Given the description of an element on the screen output the (x, y) to click on. 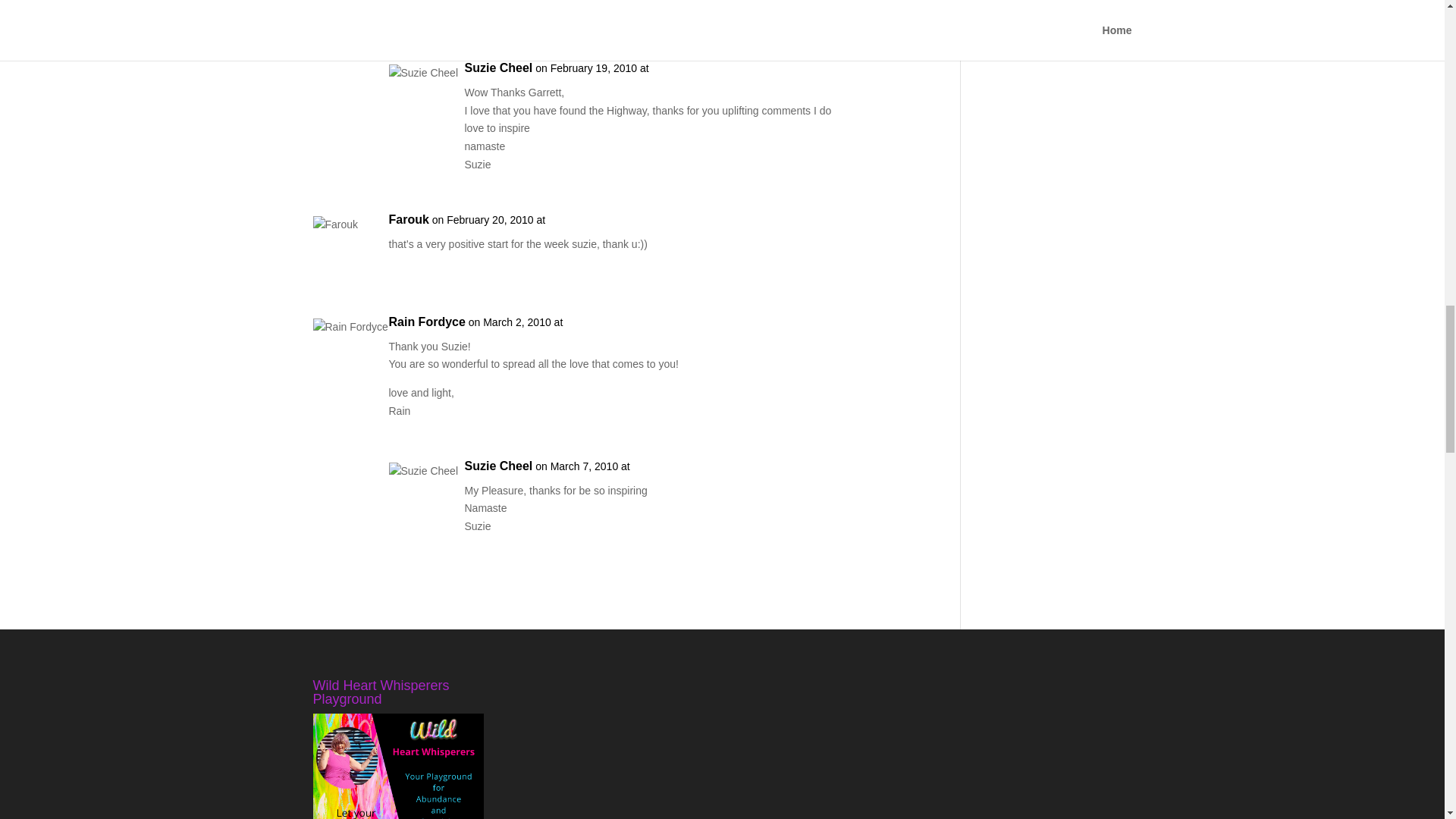
Rain Fordyce (426, 321)
Suzie Cheel (498, 67)
Farouk (408, 219)
Suzie Cheel (498, 466)
